Given the description of an element on the screen output the (x, y) to click on. 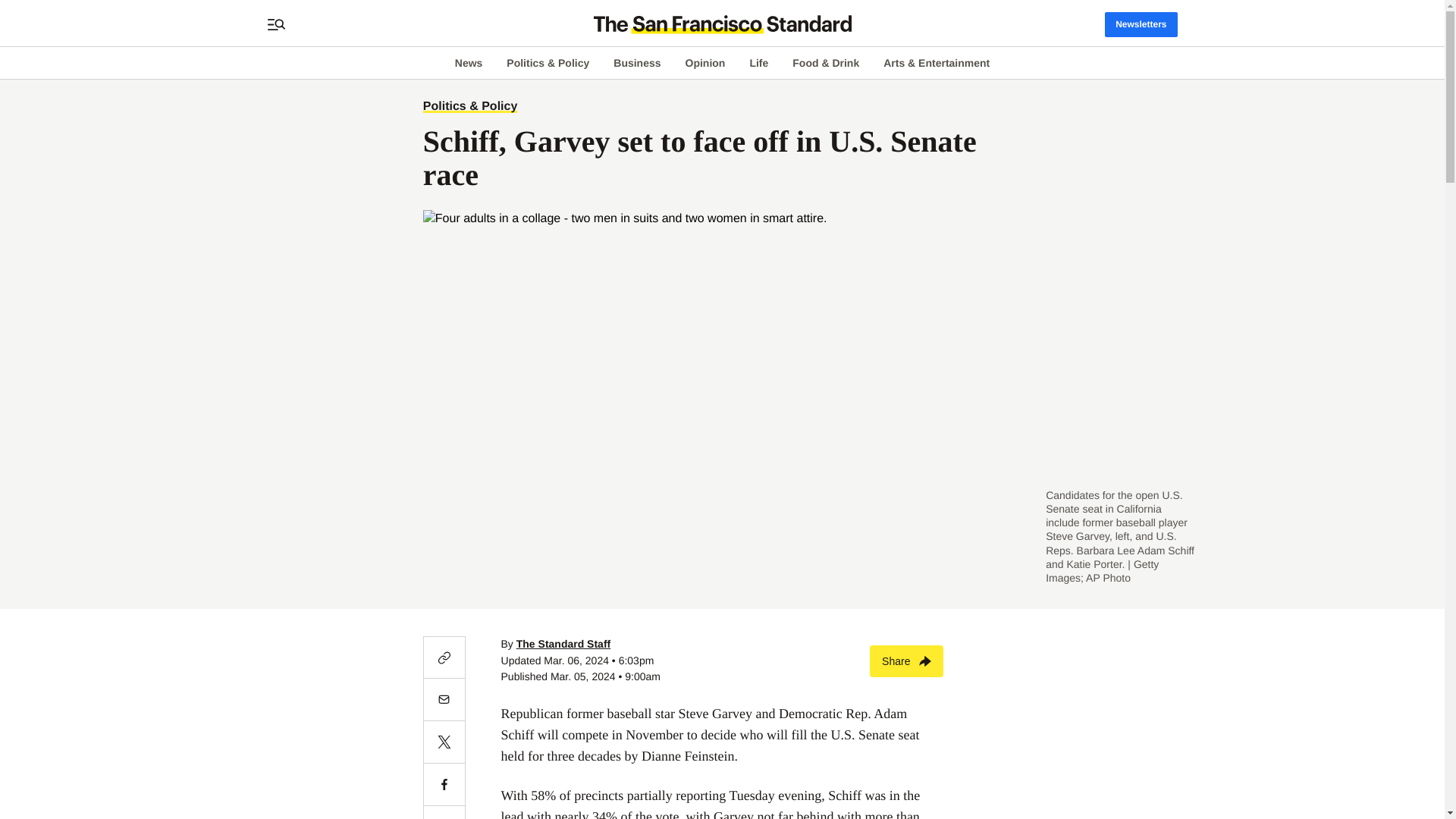
Share (906, 660)
The Standard Staff (563, 644)
News (468, 62)
Copy link to this article (444, 657)
Opinion (705, 62)
Life (758, 62)
Business (636, 62)
Open search bar and full menu (275, 24)
Newsletters (1140, 24)
